Given the description of an element on the screen output the (x, y) to click on. 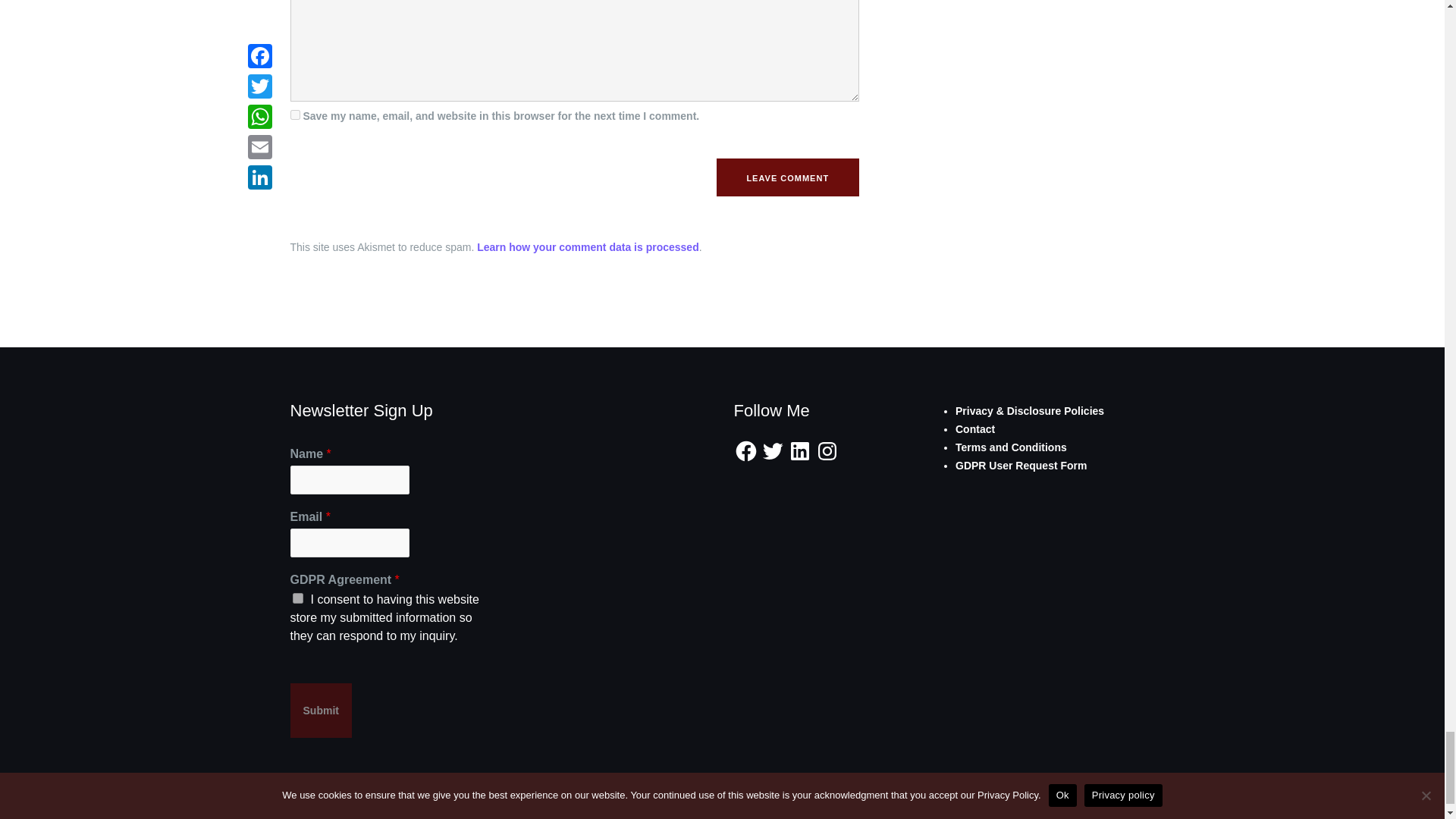
yes (294, 114)
Leave Comment (787, 177)
